Given the description of an element on the screen output the (x, y) to click on. 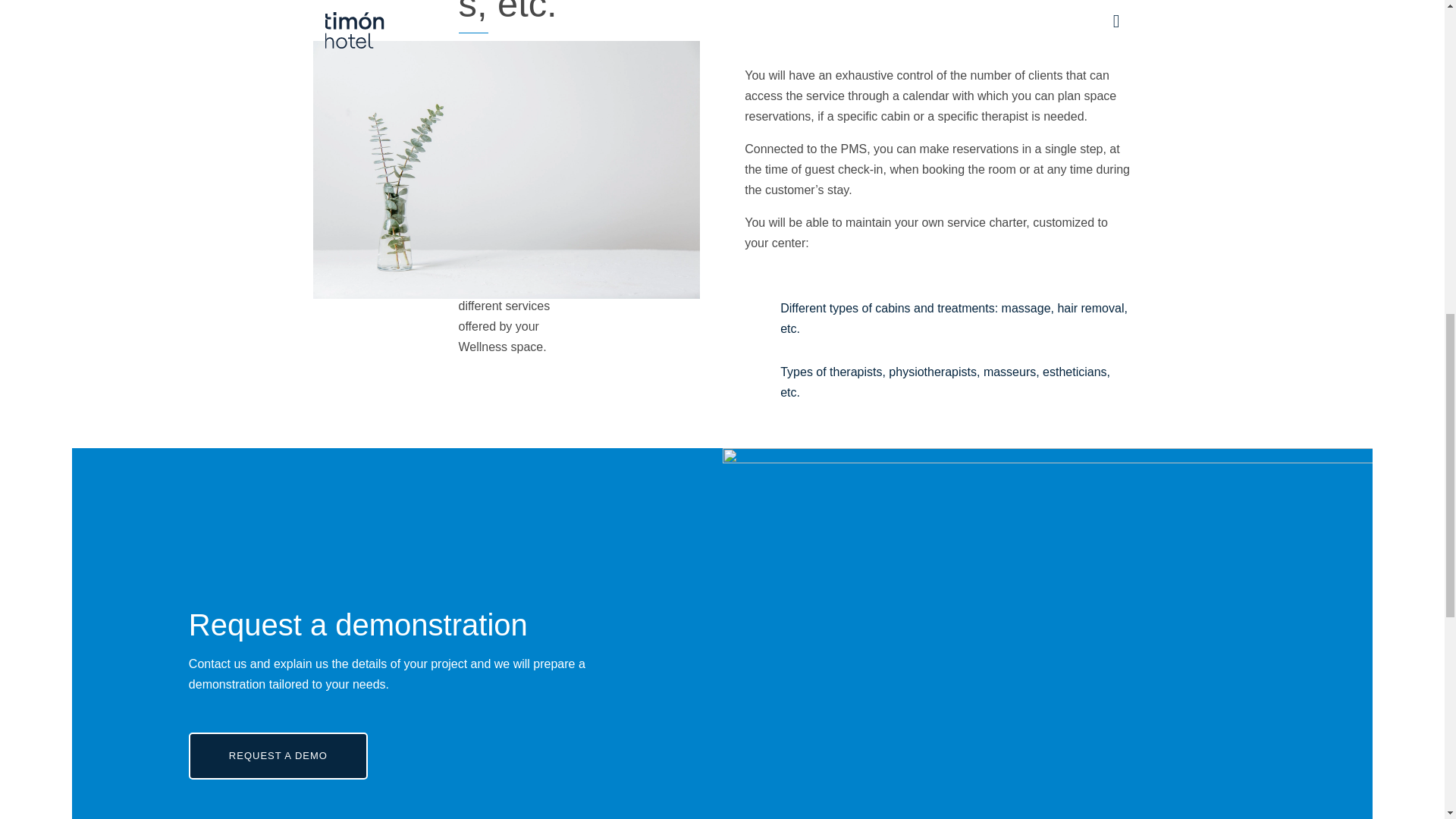
wellness-spa-2-min (505, 169)
REQUEST A DEMO (278, 755)
